Given the description of an element on the screen output the (x, y) to click on. 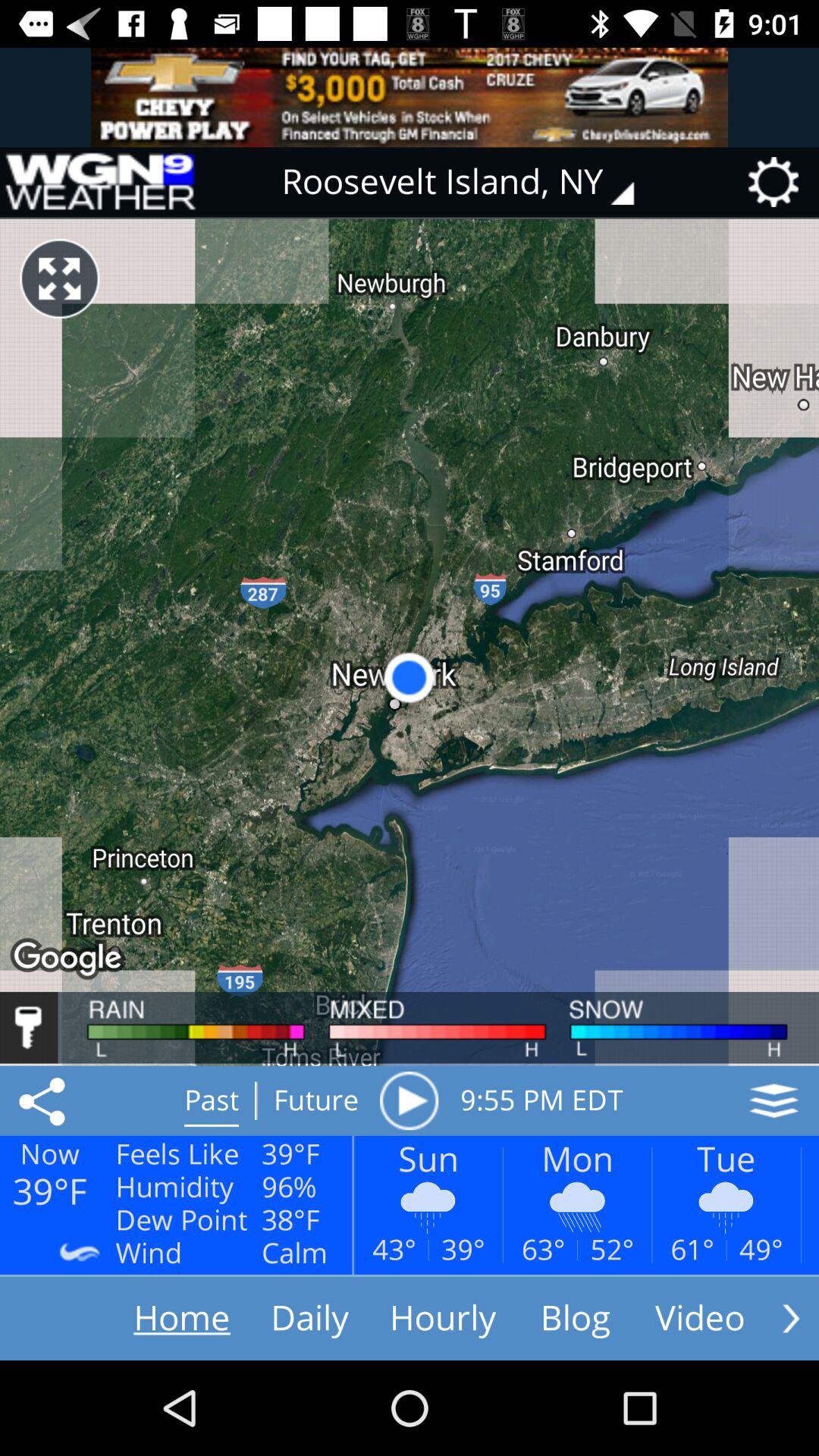
advertisement (409, 97)
